Given the description of an element on the screen output the (x, y) to click on. 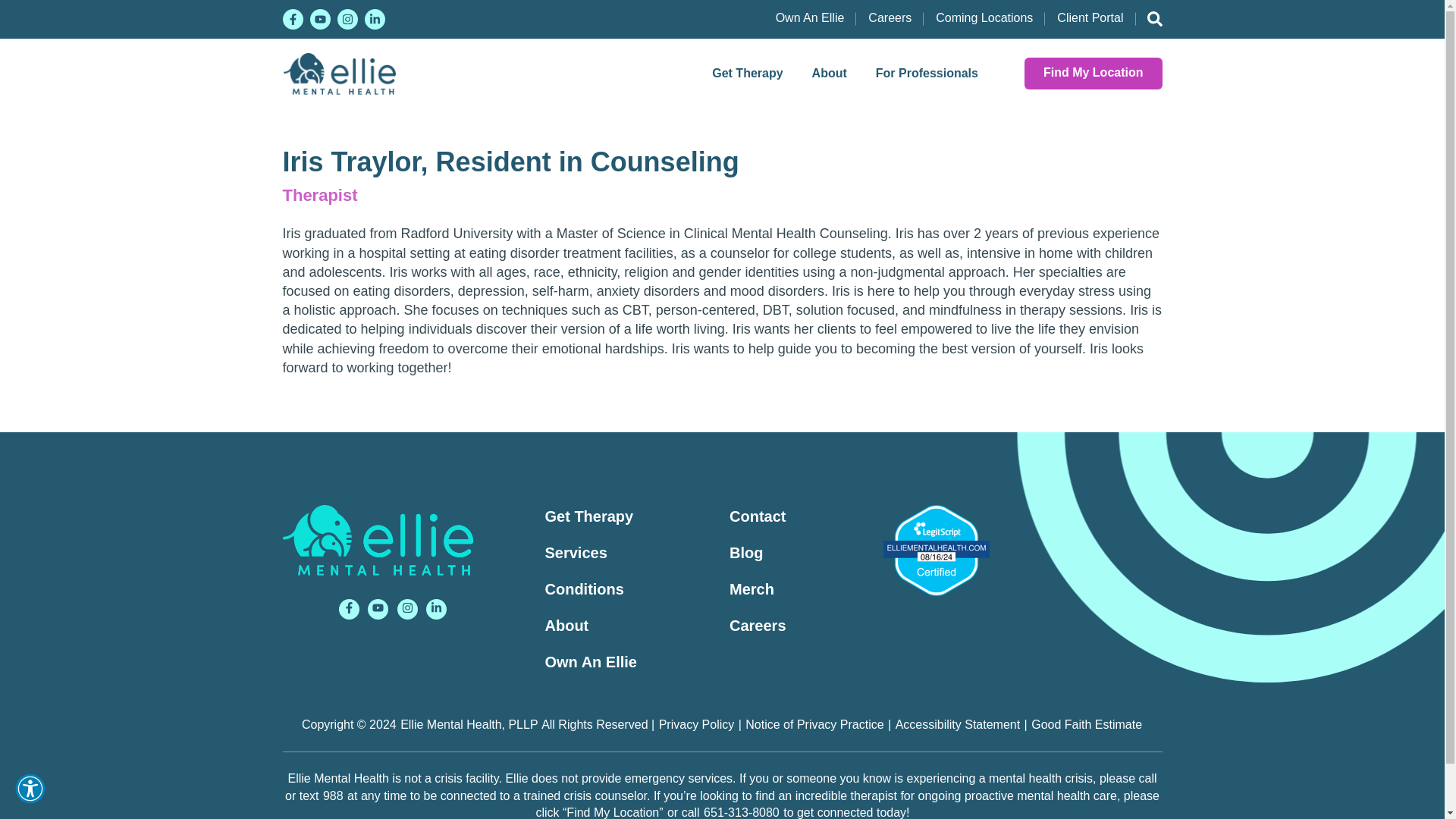
Careers (889, 18)
Facebook (349, 608)
YouTube (378, 608)
Client Portal (1090, 18)
About (829, 73)
YouTube (319, 19)
Facebook (292, 19)
Get Therapy (746, 73)
For Professionals (926, 73)
LinkedIn (374, 19)
